Given the description of an element on the screen output the (x, y) to click on. 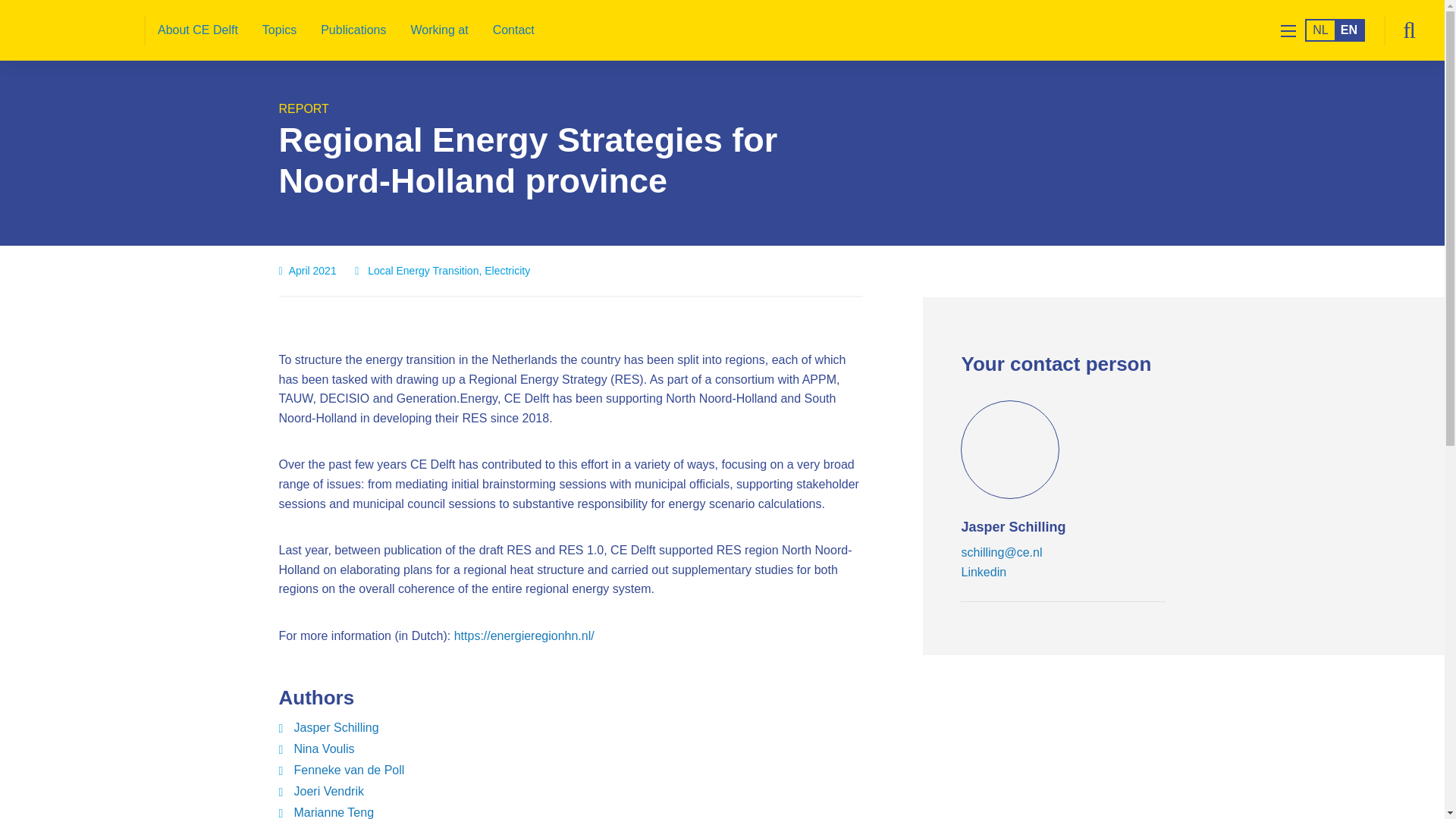
Logo CE Delft (79, 30)
Topics (279, 30)
About CE Delft (197, 30)
